Given the description of an element on the screen output the (x, y) to click on. 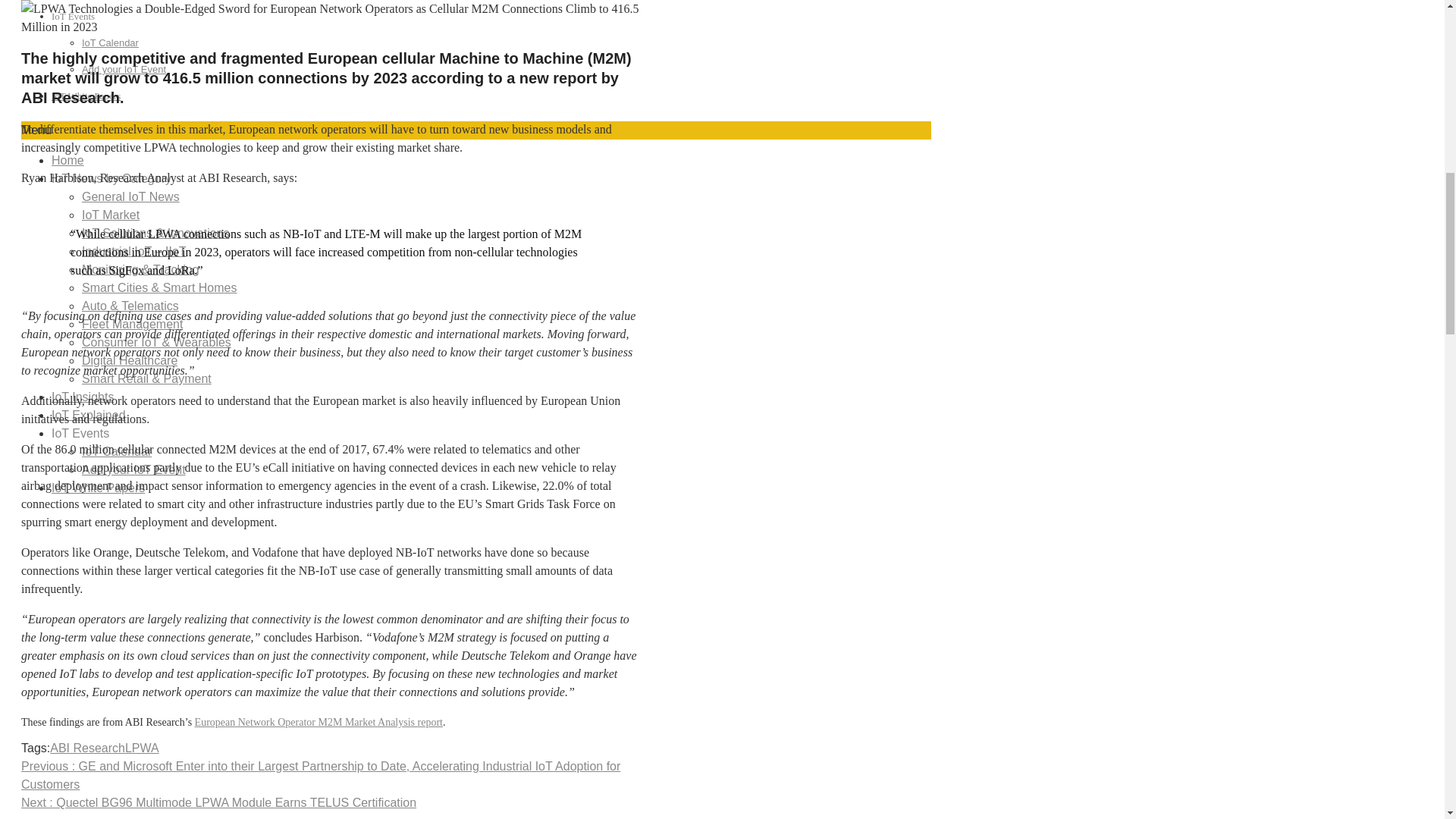
Add your IoT Event (123, 69)
IoT White Papers (85, 95)
IoT Events (72, 16)
IoT News by Category (110, 178)
Home (67, 160)
IoT Market (110, 214)
IoT Calendar (109, 42)
General IoT News (130, 196)
